Given the description of an element on the screen output the (x, y) to click on. 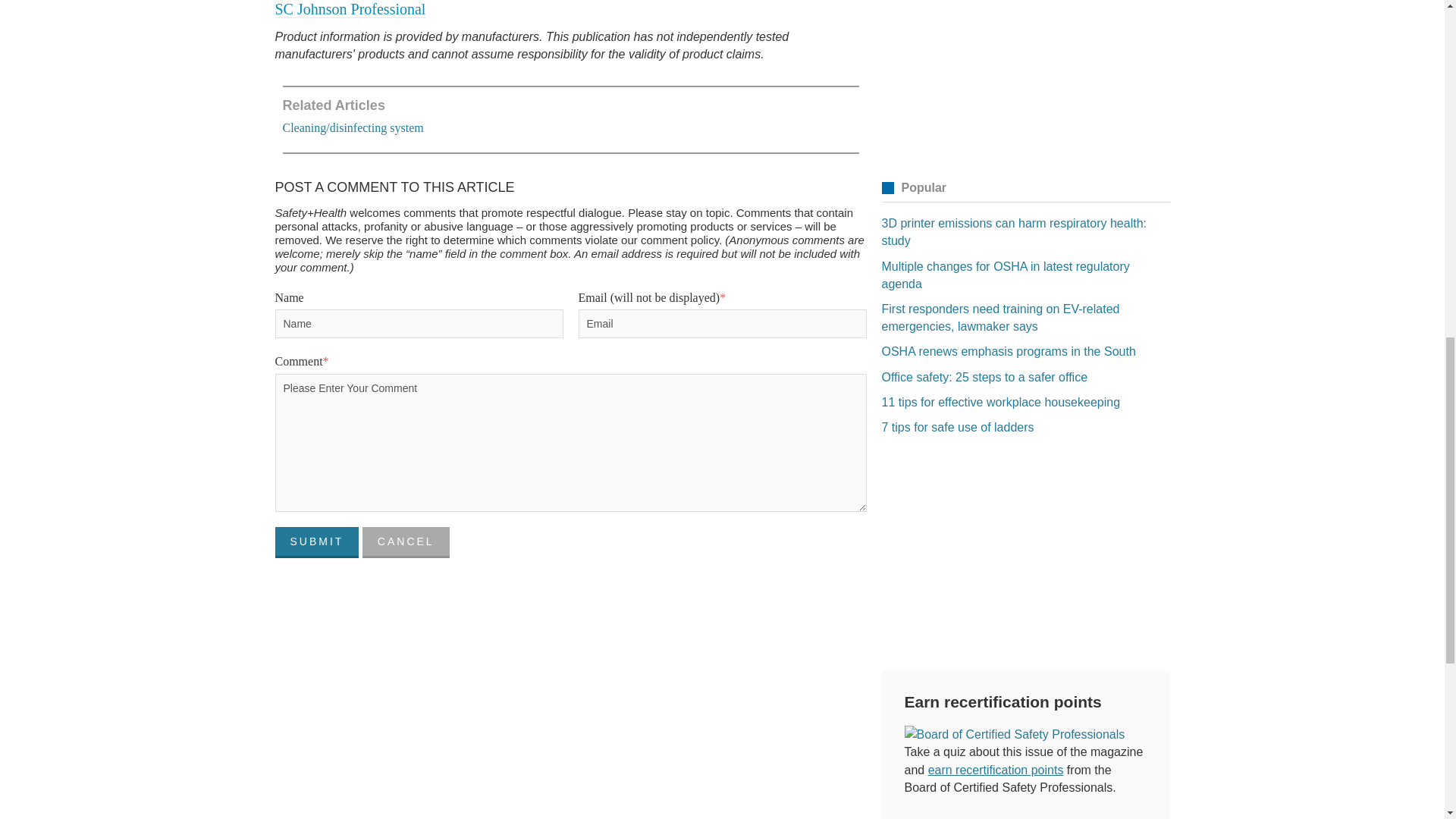
Name (418, 323)
Cancel (405, 542)
Email (722, 323)
Submit (316, 542)
